Given the description of an element on the screen output the (x, y) to click on. 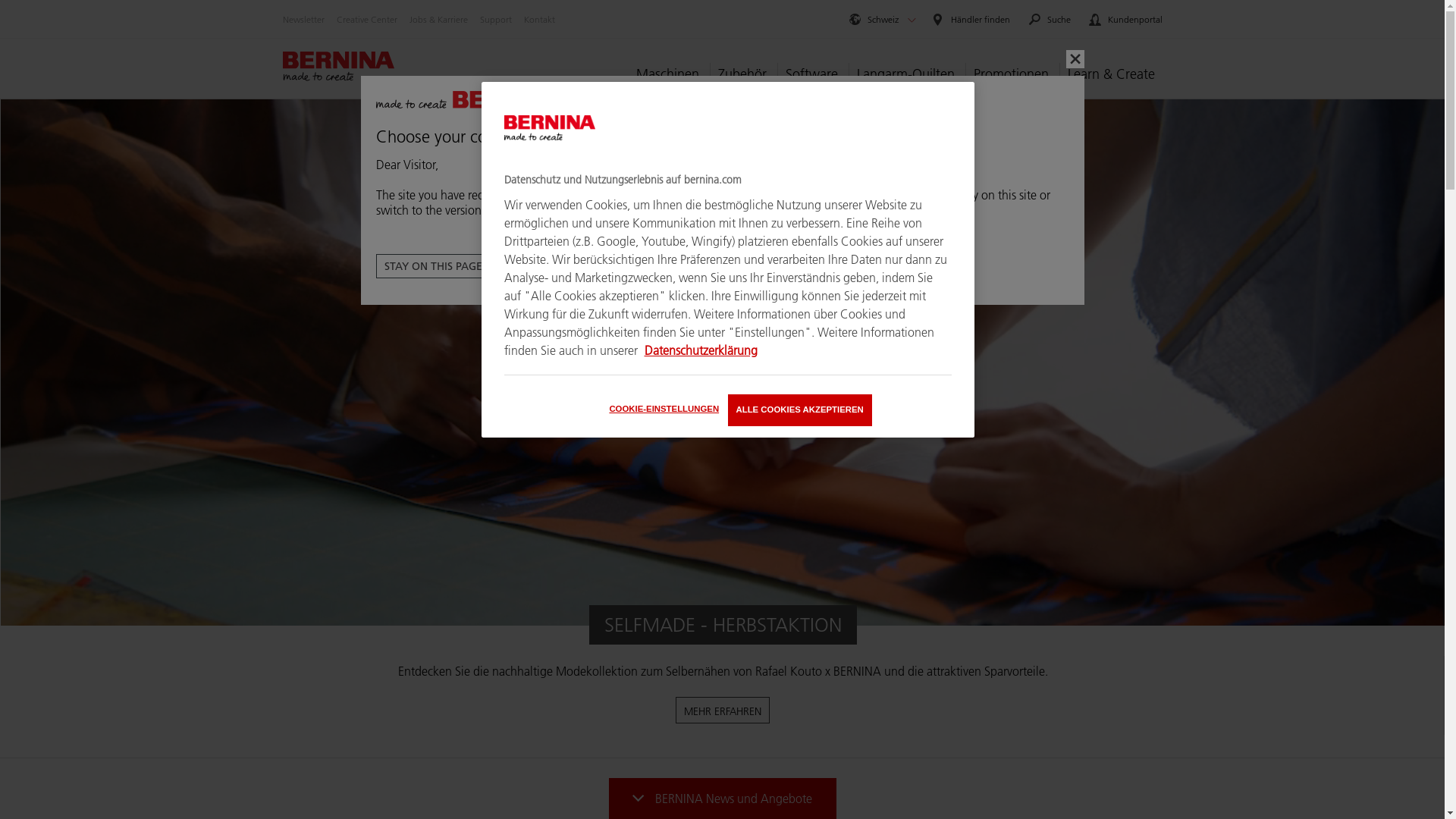
GO TO MY COUNTRY SITE Element type: text (575, 266)
Newsletter Element type: text (302, 19)
MEHR ERFAHREN Element type: text (722, 709)
Close Element type: text (1075, 59)
STAY ON THIS PAGE Element type: text (433, 266)
Promotionen Element type: text (1009, 73)
Kontakt Element type: text (538, 19)
Learn & Create Element type: text (1109, 73)
Software Element type: text (810, 73)
SELFMADE - HERBSTAKTION Element type: text (722, 624)
ALLE COOKIES AKZEPTIEREN Element type: text (800, 410)
Suche Element type: text (1049, 19)
Maschinen Element type: text (670, 73)
Creative Center Element type: text (366, 19)
Schweiz Element type: text (872, 19)
Kundenportal Element type: text (1125, 19)
Langarm-Quilten Element type: text (904, 73)
Support Element type: text (495, 19)
Jobs & Karriere Element type: text (438, 19)
Home Element type: hover (338, 66)
COOKIE-EINSTELLUNGEN Element type: text (663, 409)
